Given the description of an element on the screen output the (x, y) to click on. 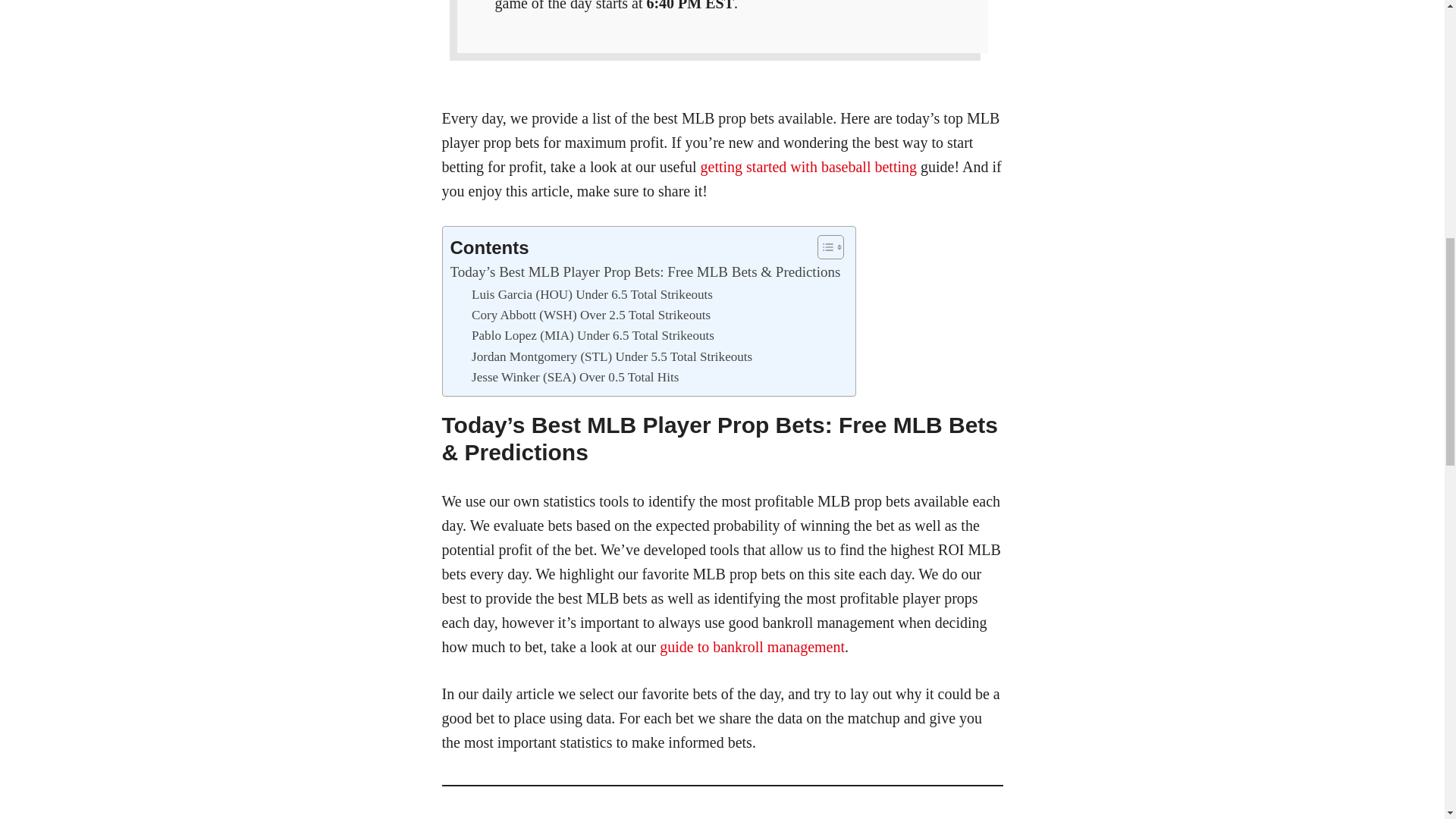
guide to bankroll management (751, 646)
getting started with baseball betting (808, 166)
